Given the description of an element on the screen output the (x, y) to click on. 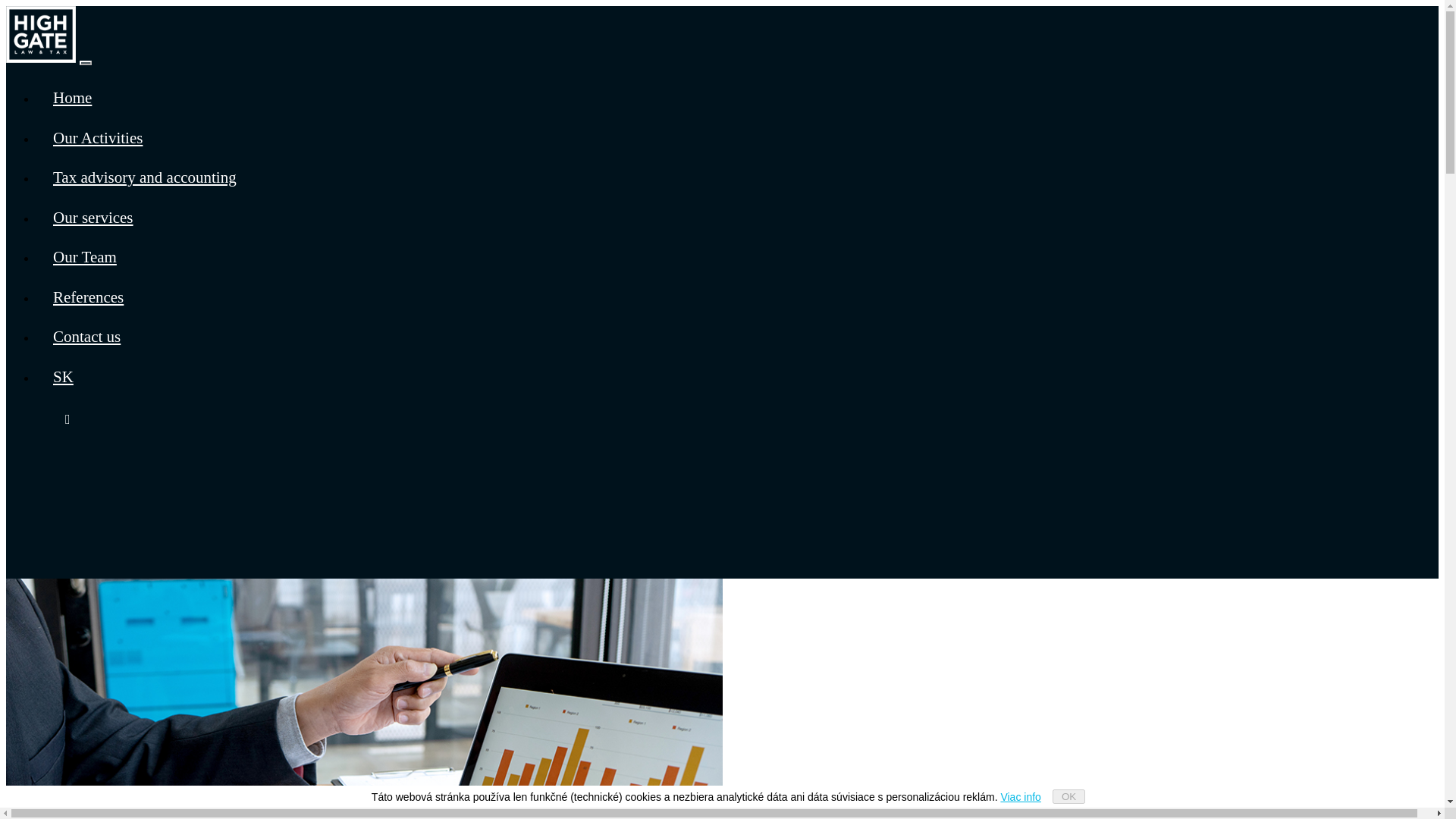
OK (1068, 796)
Home (71, 97)
Our Activities (97, 137)
References (87, 297)
Tax advisory and accounting (144, 177)
SK (63, 375)
Our services (92, 217)
Toggle navigation (85, 62)
Our Team (84, 257)
Contact us (86, 336)
Viac info (1020, 796)
